Given the description of an element on the screen output the (x, y) to click on. 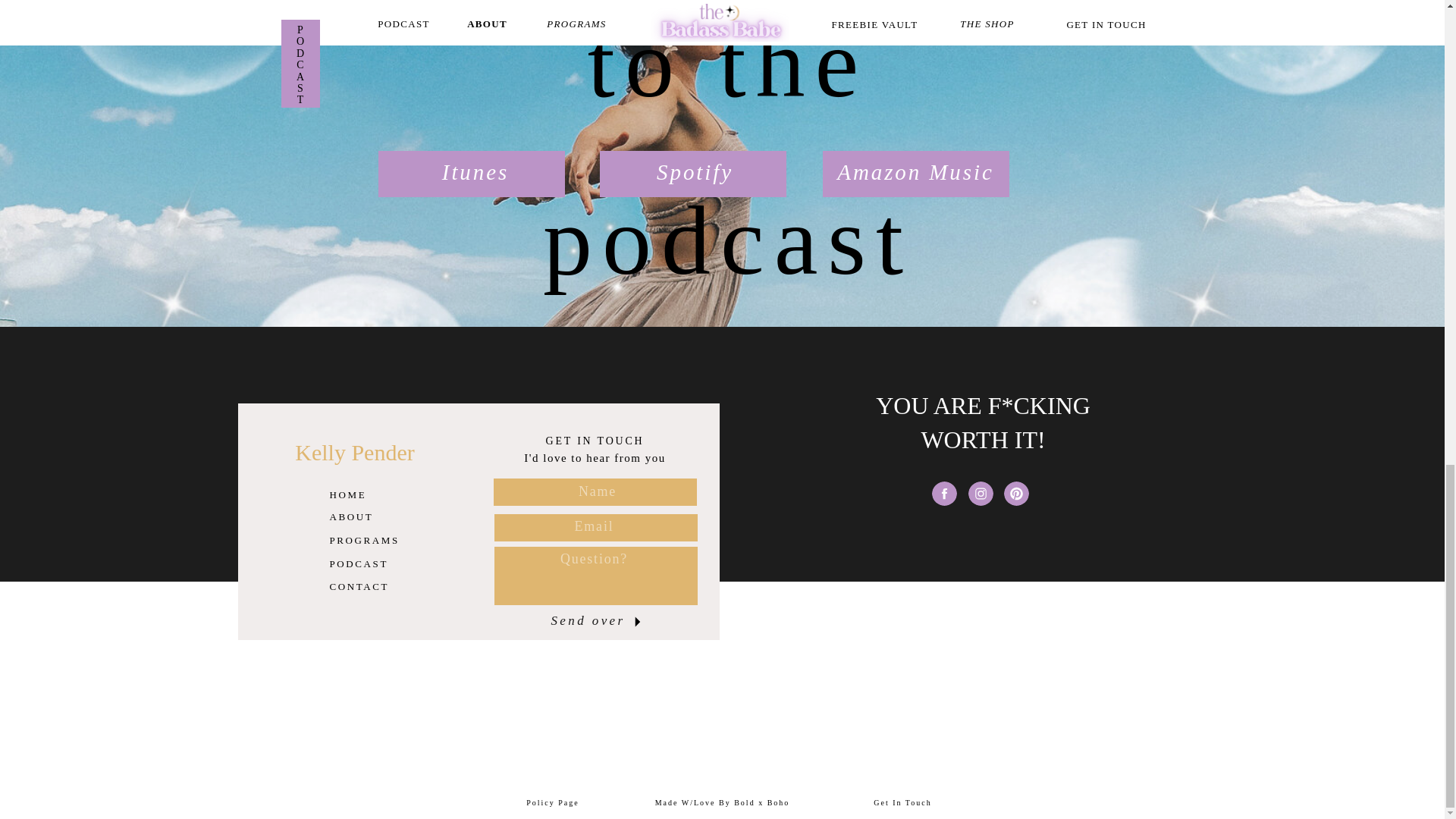
ABOUT (366, 514)
HOME (366, 492)
Amazon Music (914, 176)
PROGRAMS (366, 538)
PODCAST (383, 561)
Spotify (694, 176)
Send over (588, 620)
Itunes (475, 176)
CONTACT (366, 584)
